Given the description of an element on the screen output the (x, y) to click on. 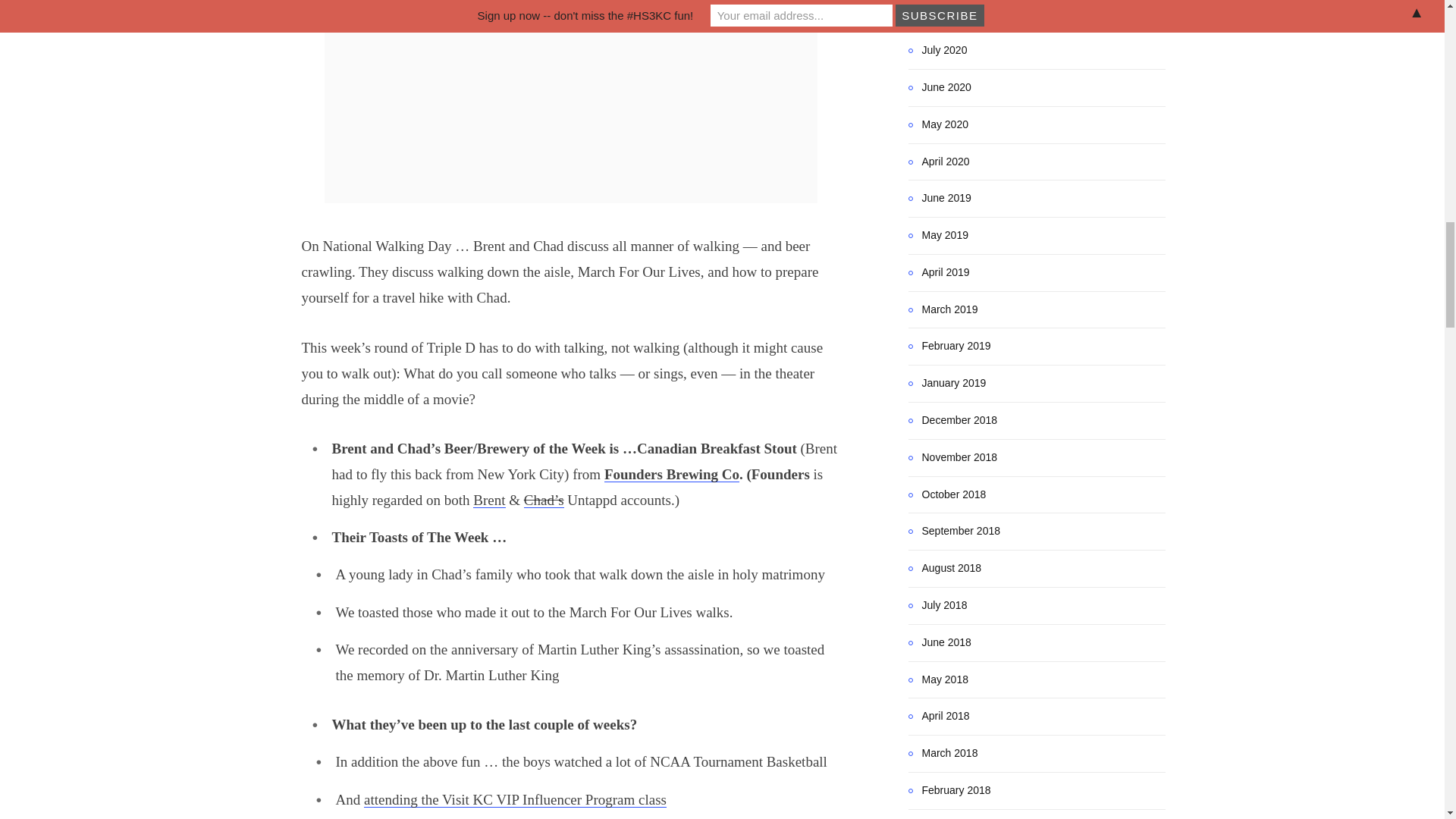
attending the Visit KC VIP Influencer Program class (515, 799)
Founders Brewing Co (671, 474)
Brent (489, 499)
